Given the description of an element on the screen output the (x, y) to click on. 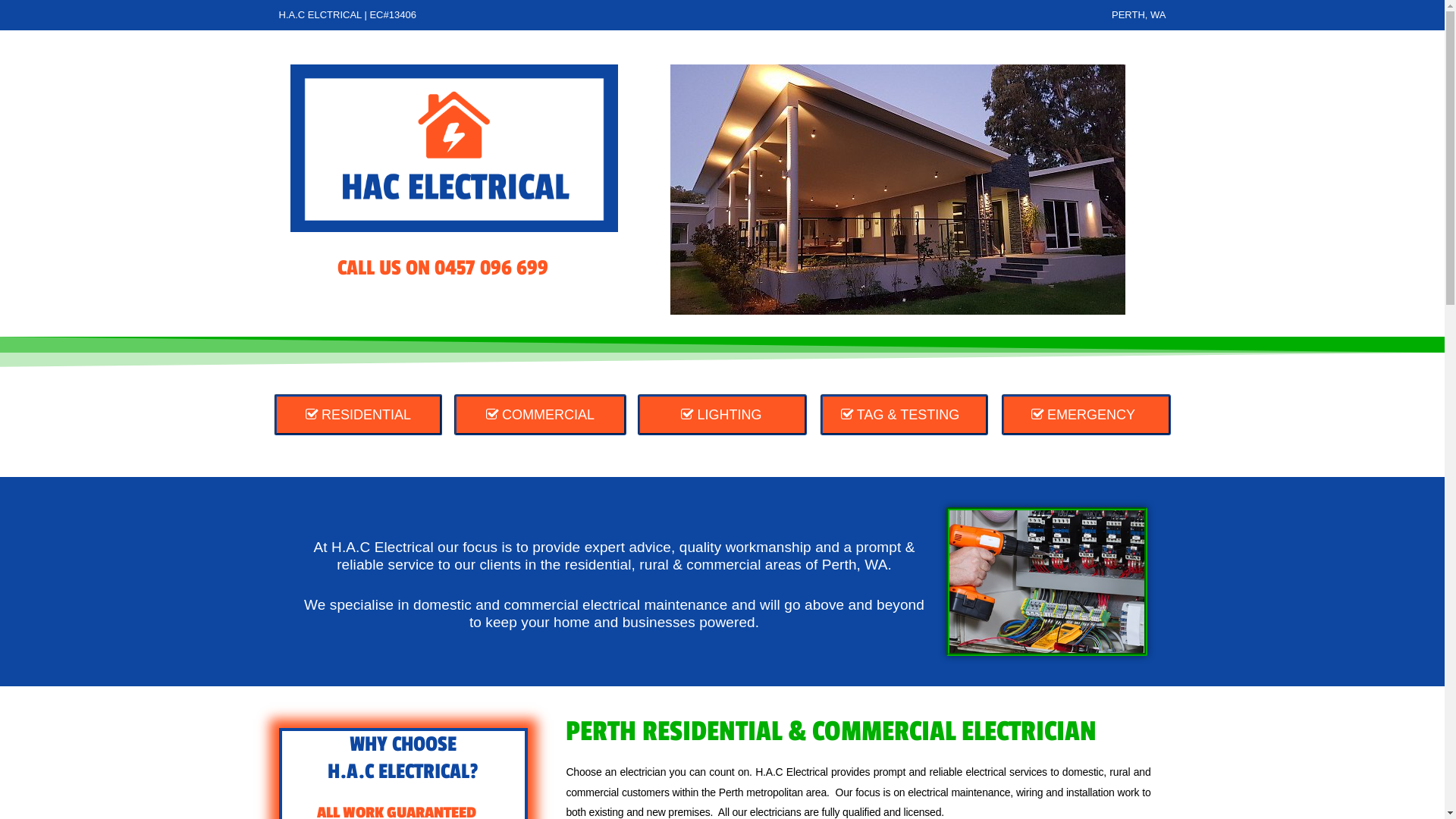
HAC Element type: hover (453, 147)
TAG & TESTING Element type: text (904, 414)
EMERGENCY Element type: text (1085, 414)
LIGHTING Element type: text (721, 414)
RESIDENTIAL Element type: text (358, 414)
COMMERCIAL Element type: text (540, 414)
